Given the description of an element on the screen output the (x, y) to click on. 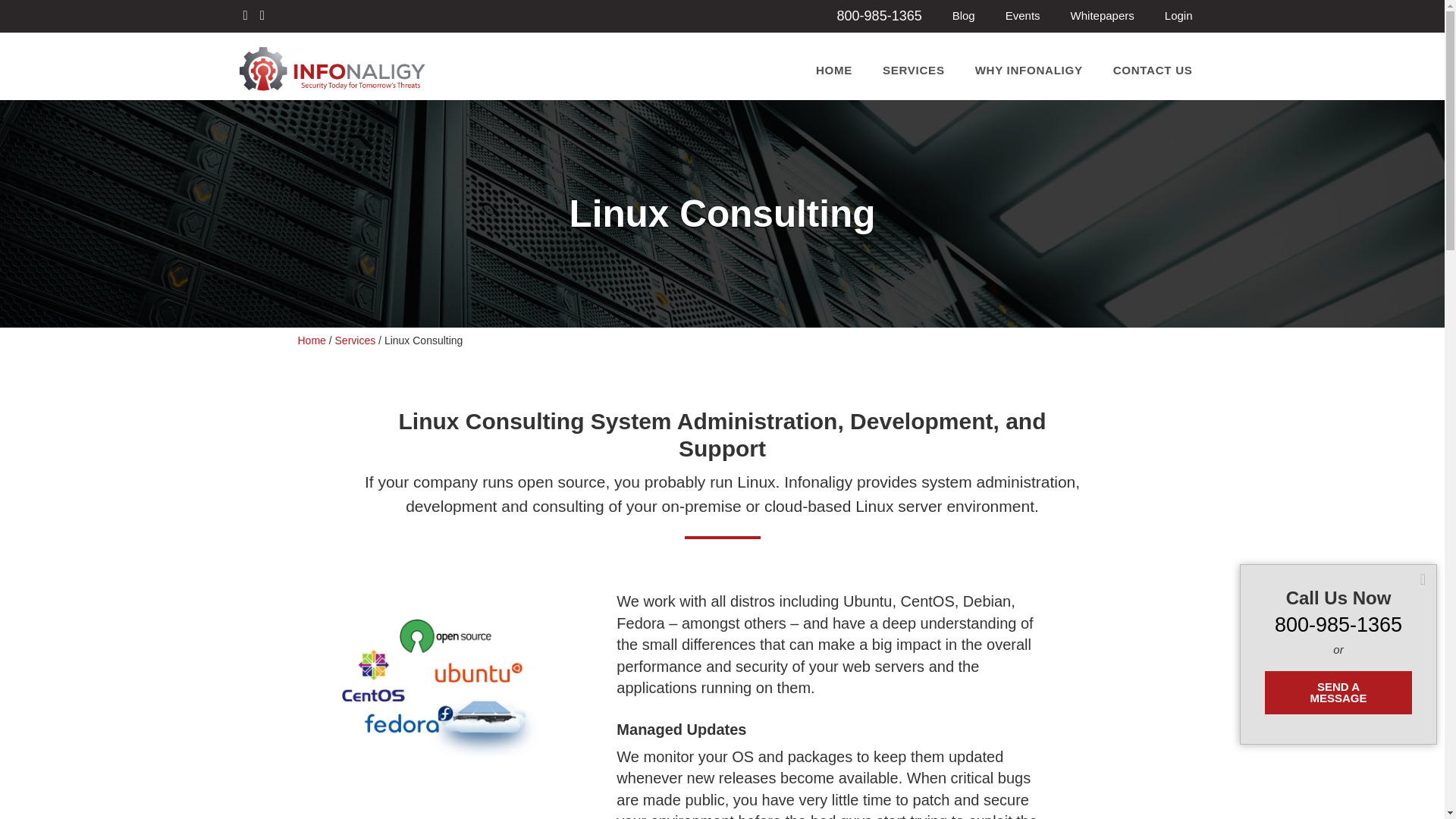
Home (310, 340)
CONTACT US (1152, 69)
SERVICES (913, 69)
Infonaligy Homepage (330, 84)
HOME (833, 69)
800-985-1365 (879, 15)
800-985-1365 (1338, 623)
Events (1022, 15)
Services (354, 340)
Blog (963, 15)
